Given the description of an element on the screen output the (x, y) to click on. 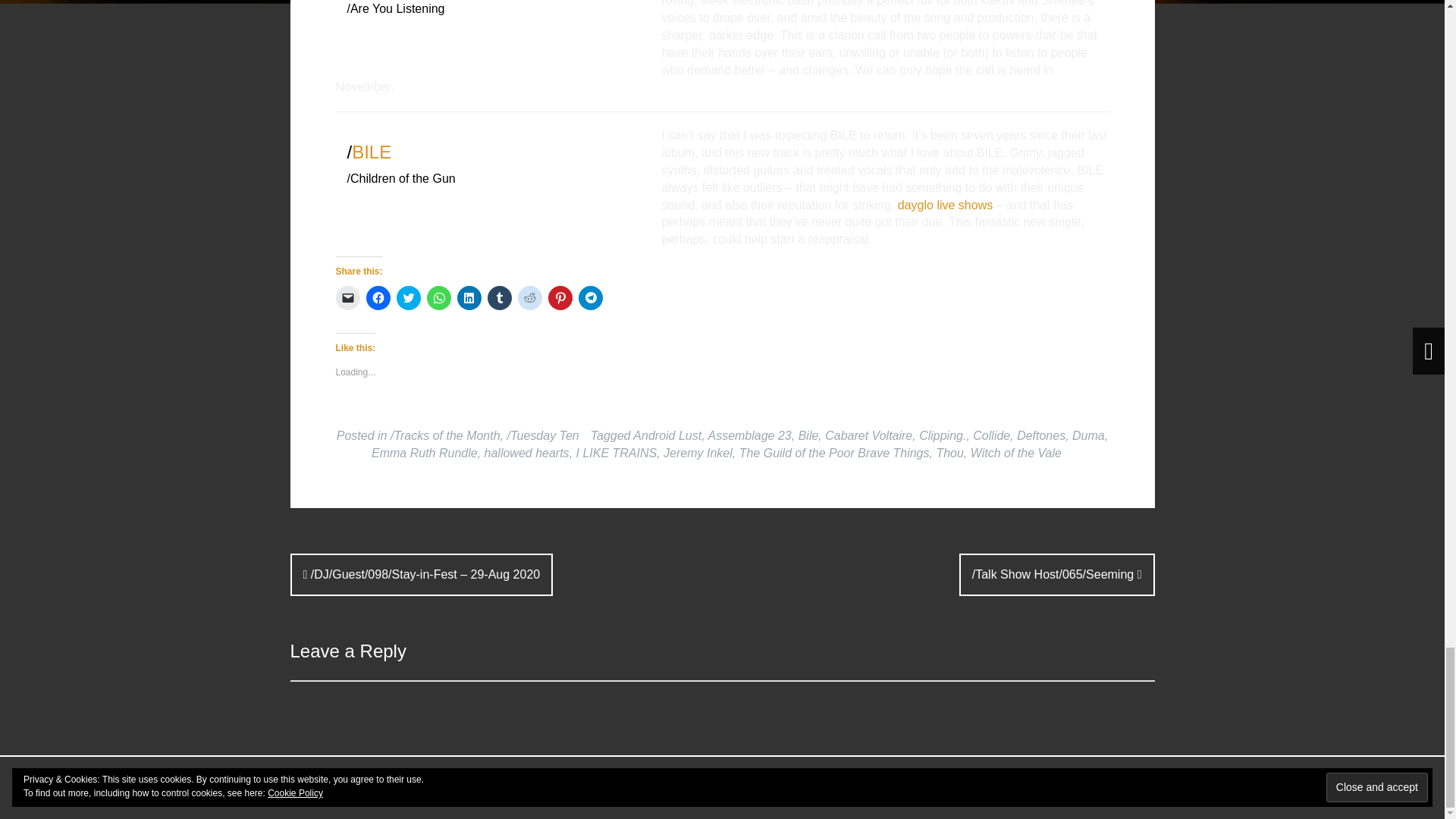
Click to share on Tumblr (498, 297)
Click to share on Reddit (528, 297)
Click to share on Facebook (377, 297)
Click to email a link to a friend (346, 297)
Click to share on Pinterest (559, 297)
Click to share on LinkedIn (468, 297)
Click to share on WhatsApp (437, 297)
Click to share on Telegram (590, 297)
Click to share on Twitter (408, 297)
 Back to top (1120, 787)
